Given the description of an element on the screen output the (x, y) to click on. 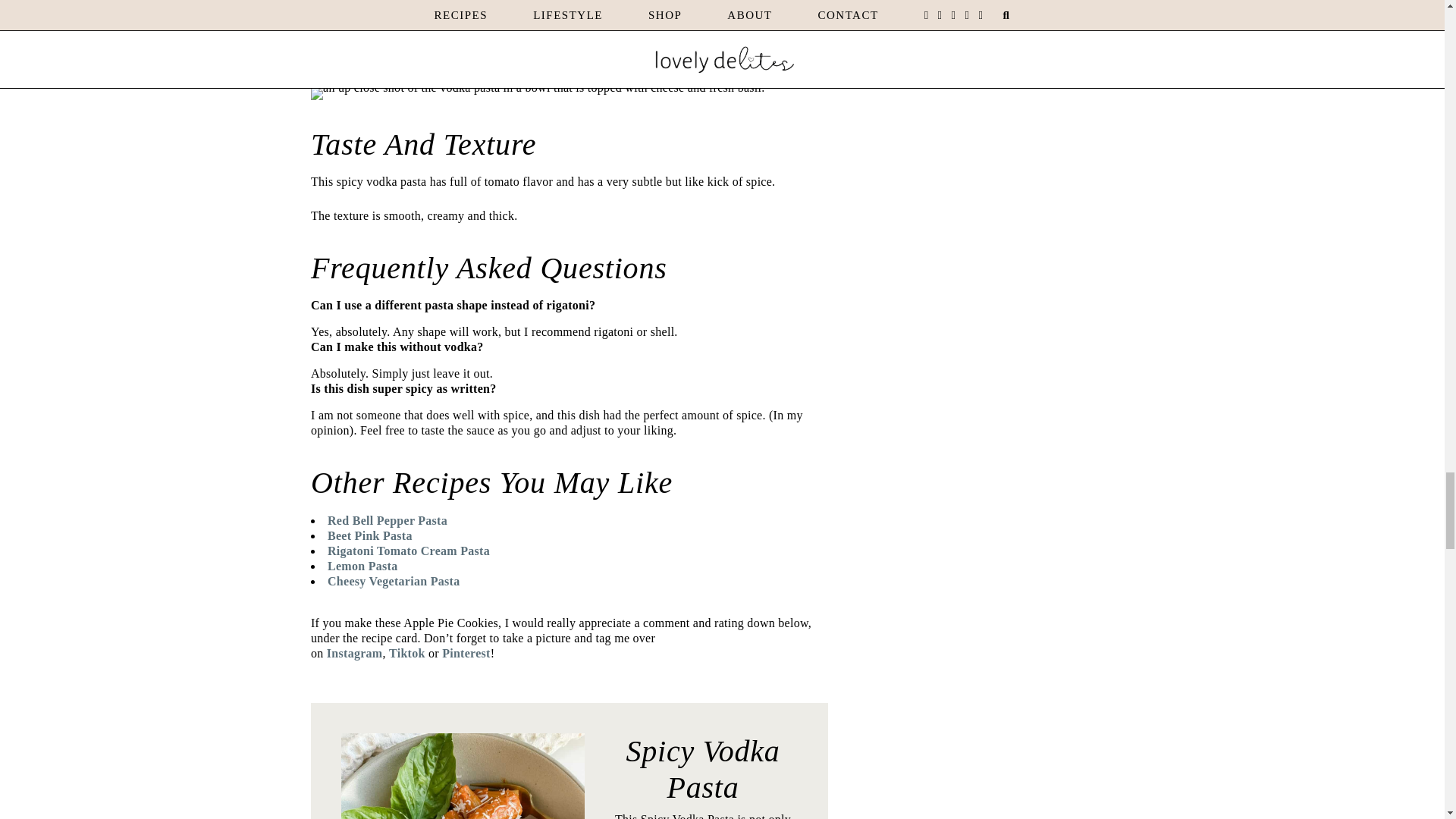
Instagram (354, 653)
Tiktok (406, 653)
Lemon Pasta (362, 565)
Beet Pink Pasta (369, 535)
Red Bell Pepper Pasta (386, 520)
Cheesy Vegetarian Pasta (393, 581)
Rigatoni Tomato Cream Pasta (408, 550)
Pinterest (466, 653)
